Given the description of an element on the screen output the (x, y) to click on. 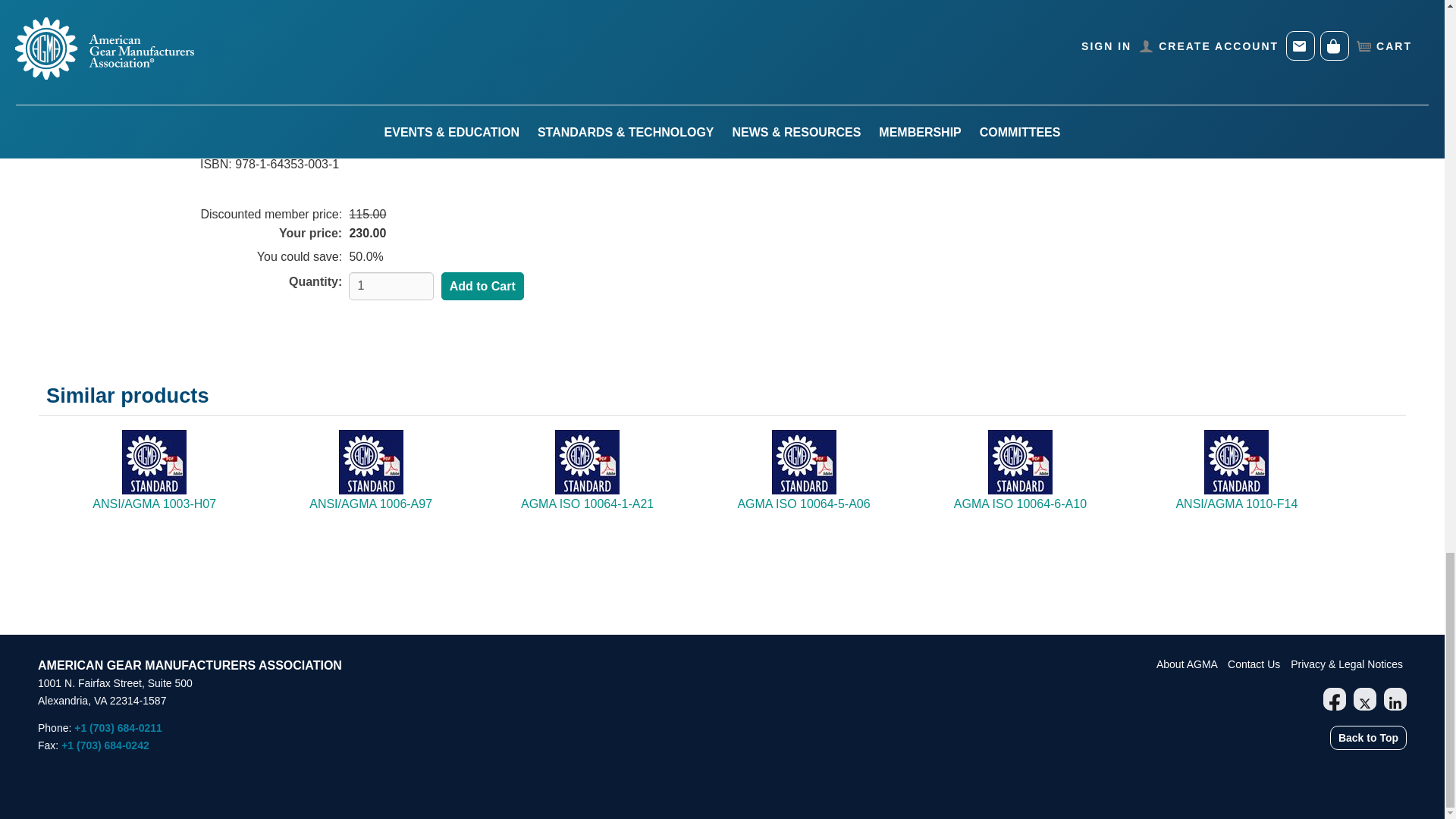
1 (391, 285)
AGMA ISO 10064-6-A10 (1019, 504)
AGMA ISO 10064-5-A06 (802, 504)
AGMA ISO 10064-1-A21 (587, 504)
Add to Cart (482, 286)
AGMA ISO 10064-6-A10 (1019, 504)
AMERICAN GEAR MANUFACTURERS ASSOCIATION (189, 665)
About AGMA (1188, 664)
Add to Cart (482, 286)
AGMA ISO 10064-5-A06 (802, 504)
AGMA ISO 10064-1-A21 (587, 504)
Contact Us (1254, 664)
